Given the description of an element on the screen output the (x, y) to click on. 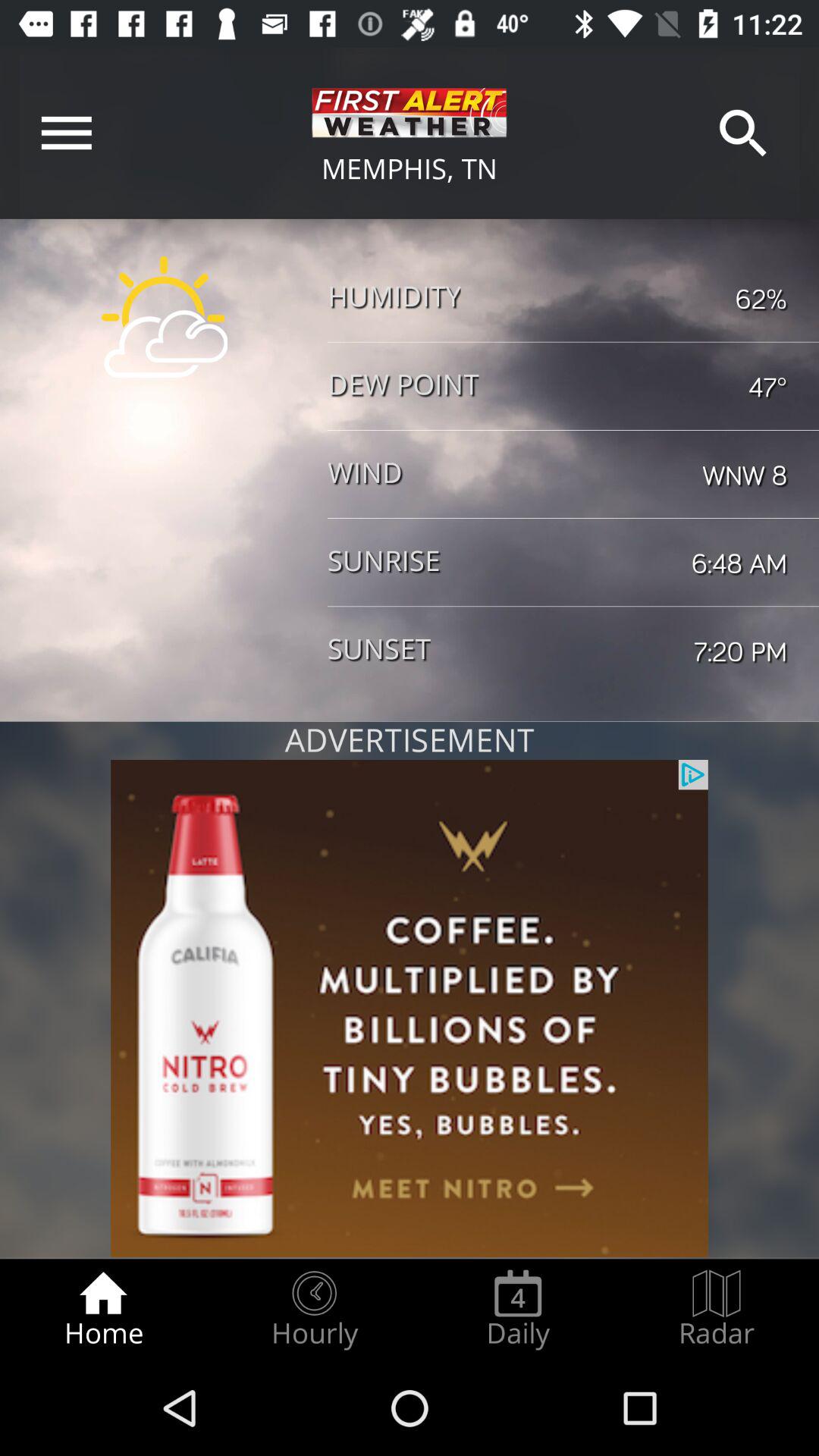
select the item next to hourly item (518, 1309)
